Given the description of an element on the screen output the (x, y) to click on. 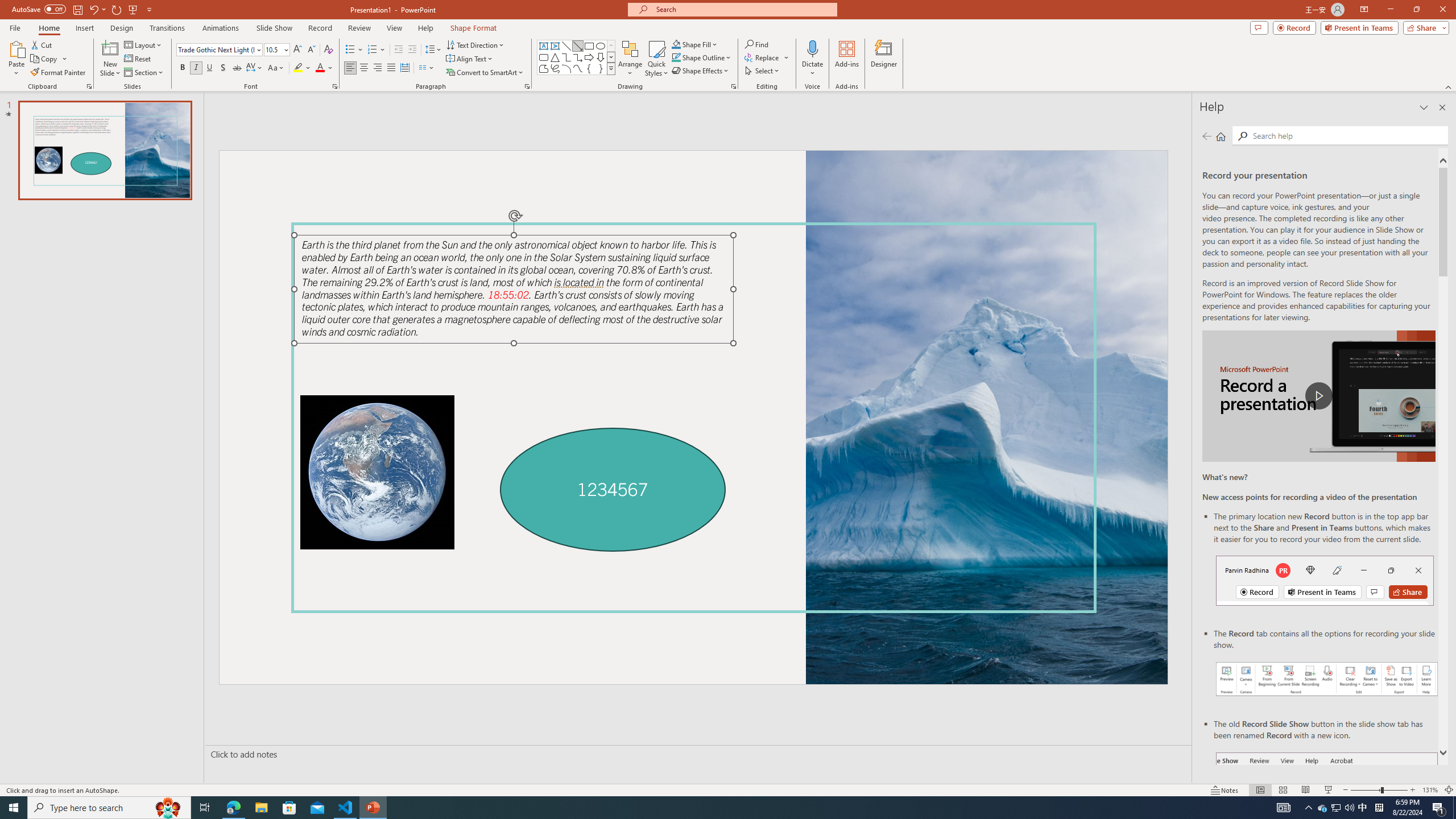
Shape Outline Teal, Accent 1 (675, 56)
